Given the description of an element on the screen output the (x, y) to click on. 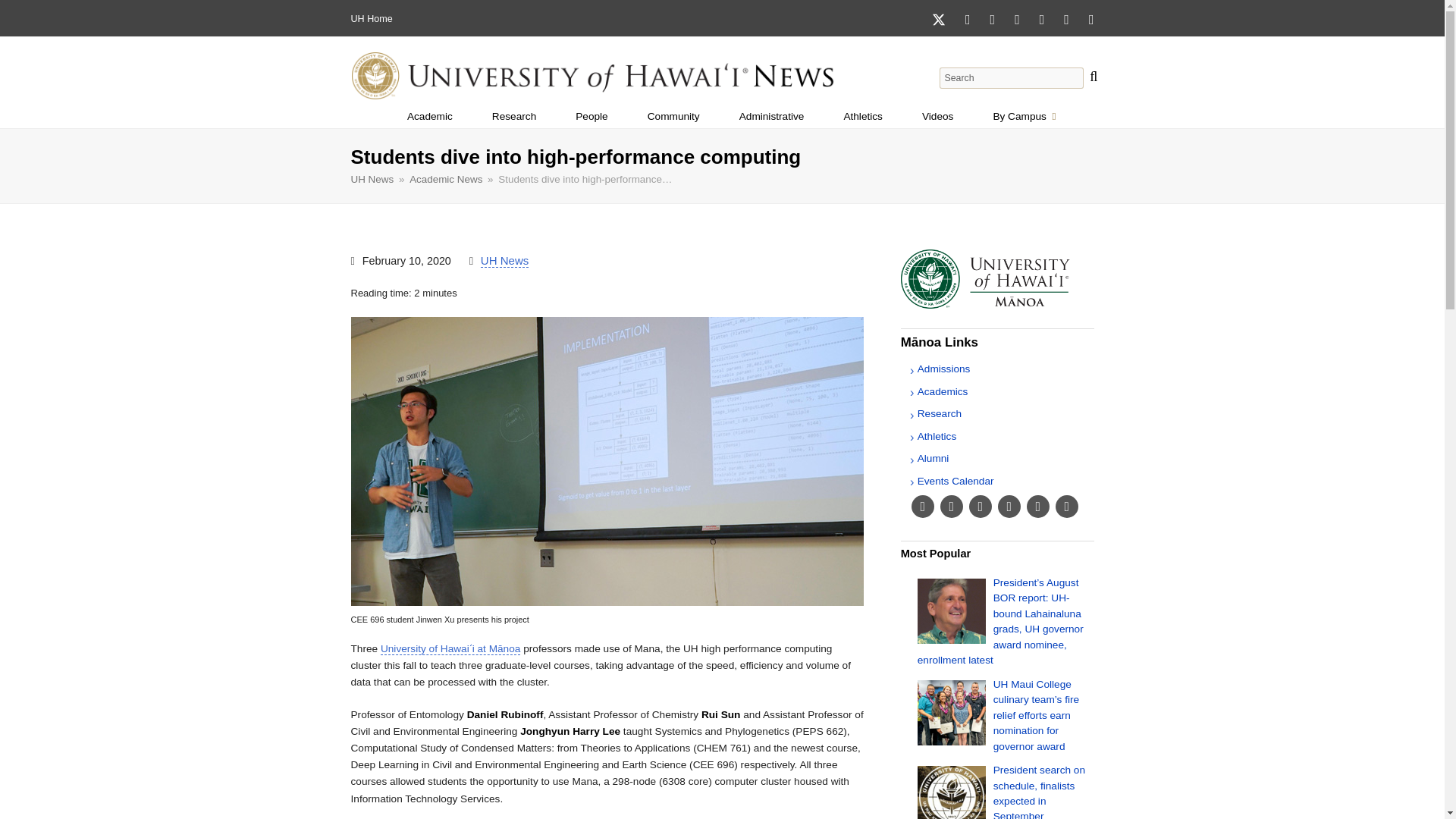
University of Hawaii (357, 18)
University of Hawaii (1023, 116)
Administrative (690, 648)
People (771, 116)
Posts by UH News (591, 116)
Athletics (504, 260)
UH Home (863, 116)
Videos (370, 18)
Community (937, 116)
